Given the description of an element on the screen output the (x, y) to click on. 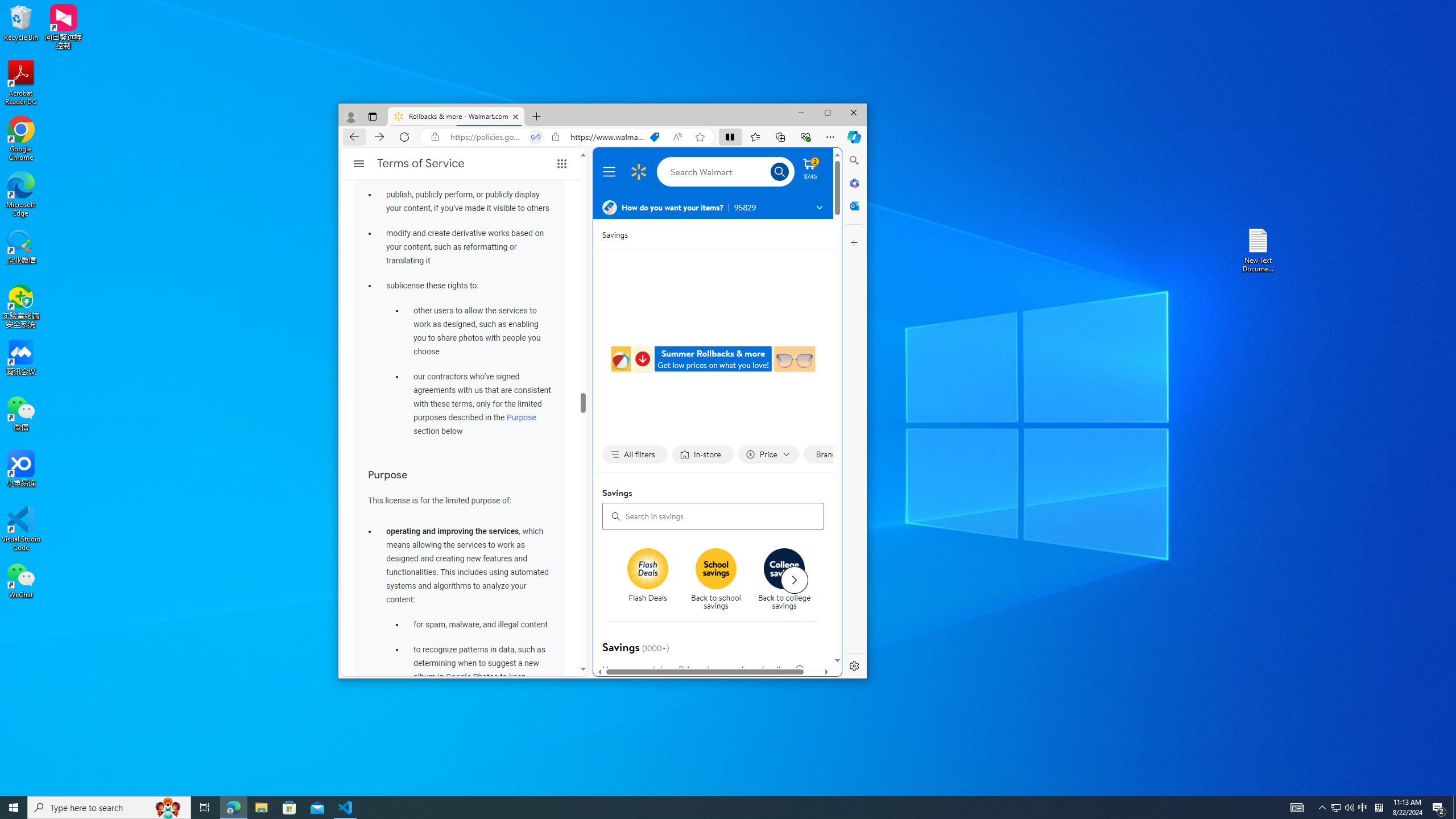
Running applications (707, 807)
Cart contains 2 items Total Amount $7.45 (810, 168)
Visual Studio Code - 1 running window (345, 807)
Task View (204, 807)
Search in savings (713, 516)
Savings (614, 233)
Filter by In-store (702, 454)
Flash Deals (651, 579)
Tabs in split screen (535, 136)
Microsoft Edge - 1 running window (233, 807)
Show desktop (1454, 807)
